Given the description of an element on the screen output the (x, y) to click on. 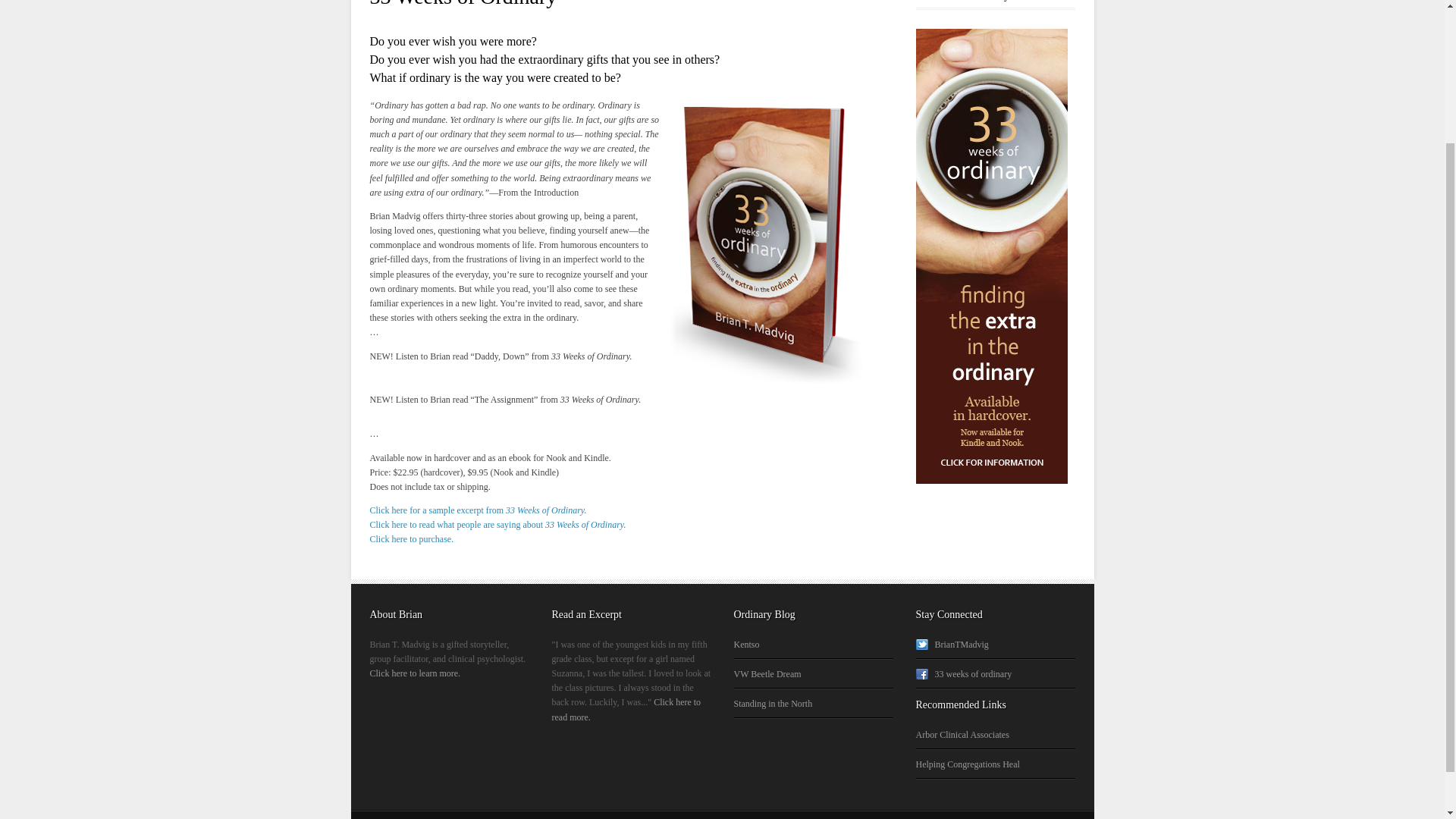
Click here to read more. (626, 708)
About Brian (415, 673)
Click here to learn more. (415, 673)
Read an Excerpt (626, 708)
Arbor Clinical Associates (962, 734)
VW Beetle Dream (767, 674)
BrianTMadvig (951, 644)
Buy Now (411, 538)
BrianTMadvig (951, 644)
Kentso (746, 644)
Standing in the North (772, 703)
Helping Congregations Heal (967, 764)
What People Are Saying (497, 524)
Click here to purchase. (411, 538)
